Given the description of an element on the screen output the (x, y) to click on. 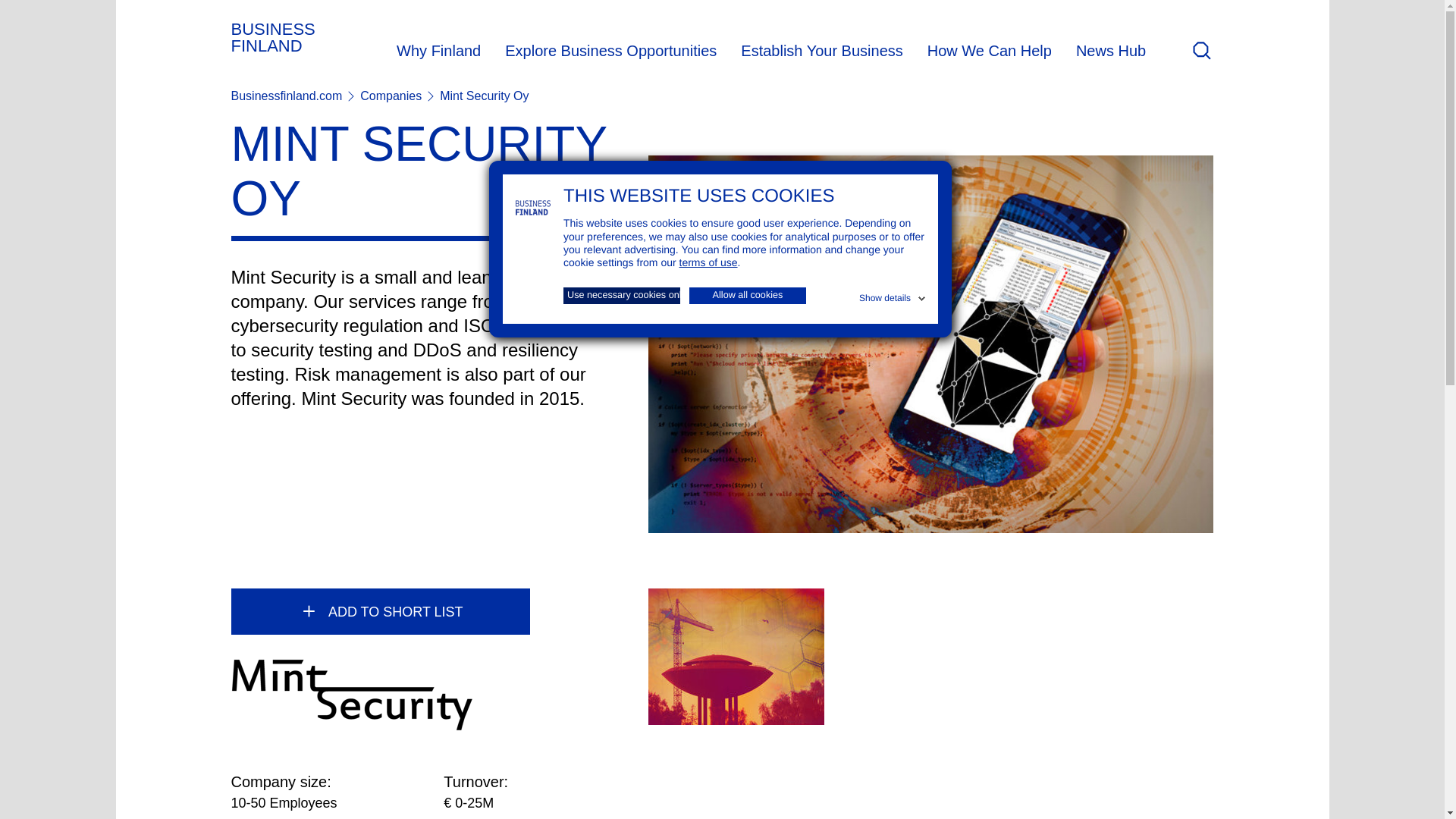
Use necessary cookies only (621, 295)
Business Finland - Terms of Use (708, 262)
terms of use (708, 262)
Show details (893, 295)
Allow all cookies (747, 295)
